Given the description of an element on the screen output the (x, y) to click on. 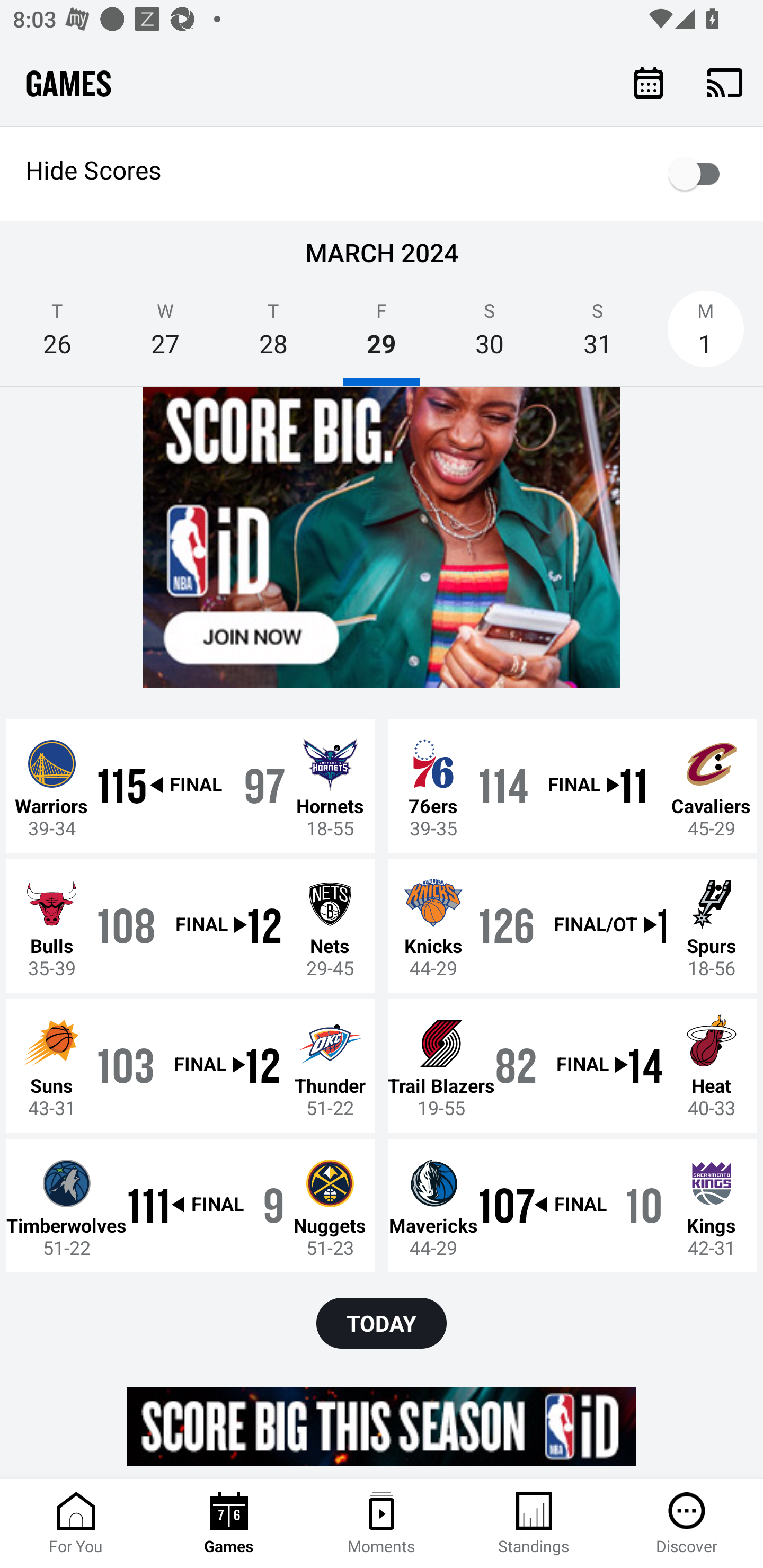
Cast. Disconnected (724, 82)
Calendar (648, 81)
Hide Scores (381, 174)
T 26 (57, 334)
W 27 (165, 334)
T 28 (273, 334)
F 29 (381, 334)
S 30 (489, 334)
S 31 (597, 334)
M 1 (705, 334)
g5nqqygr7owph (381, 537)
Warriors 39-34 115 FINAL 97 Hornets 18-55 (190, 785)
76ers 39-35 114 FINAL 117 Cavaliers 45-29 (571, 785)
Bulls 35-39 108 FINAL 125 Nets 29-45 (190, 925)
Knicks 44-29 126 FINAL/OT 130 Spurs 18-56 (571, 925)
Suns 43-31 103 FINAL 128 Thunder 51-22 (190, 1065)
Trail Blazers 19-55 82 FINAL 142 Heat 40-33 (571, 1065)
Timberwolves 51-22 111 FINAL 98 Nuggets 51-23 (190, 1204)
Mavericks 44-29 107 FINAL 103 Kings 42-31 (571, 1204)
TODAY (381, 1323)
g5nqqygr7owph (381, 1426)
For You (76, 1523)
Moments (381, 1523)
Standings (533, 1523)
Discover (686, 1523)
